Given the description of an element on the screen output the (x, y) to click on. 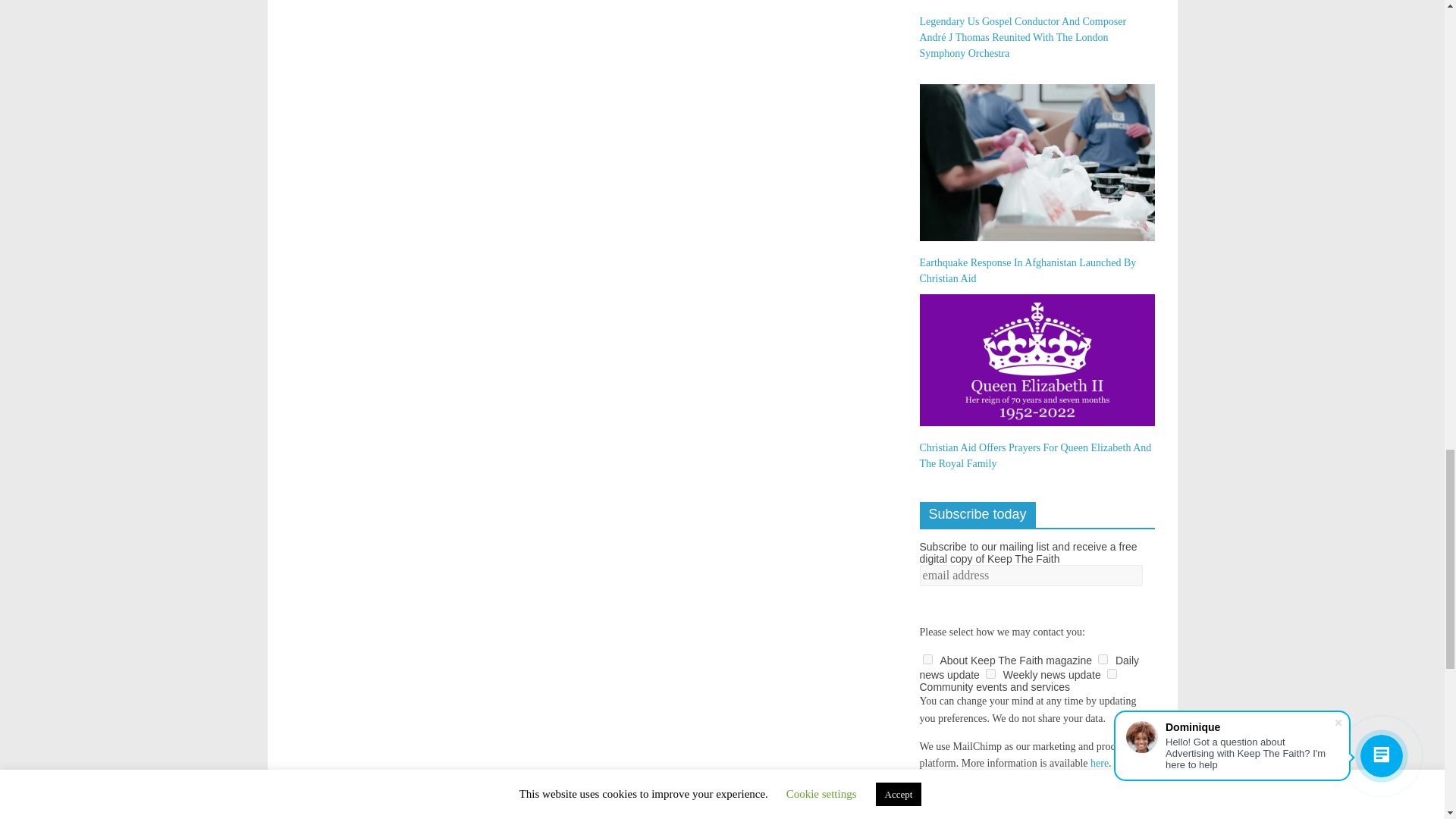
Y (1102, 659)
Y (1111, 673)
Y (990, 673)
Subscribe (949, 797)
Y (926, 659)
